Given the description of an element on the screen output the (x, y) to click on. 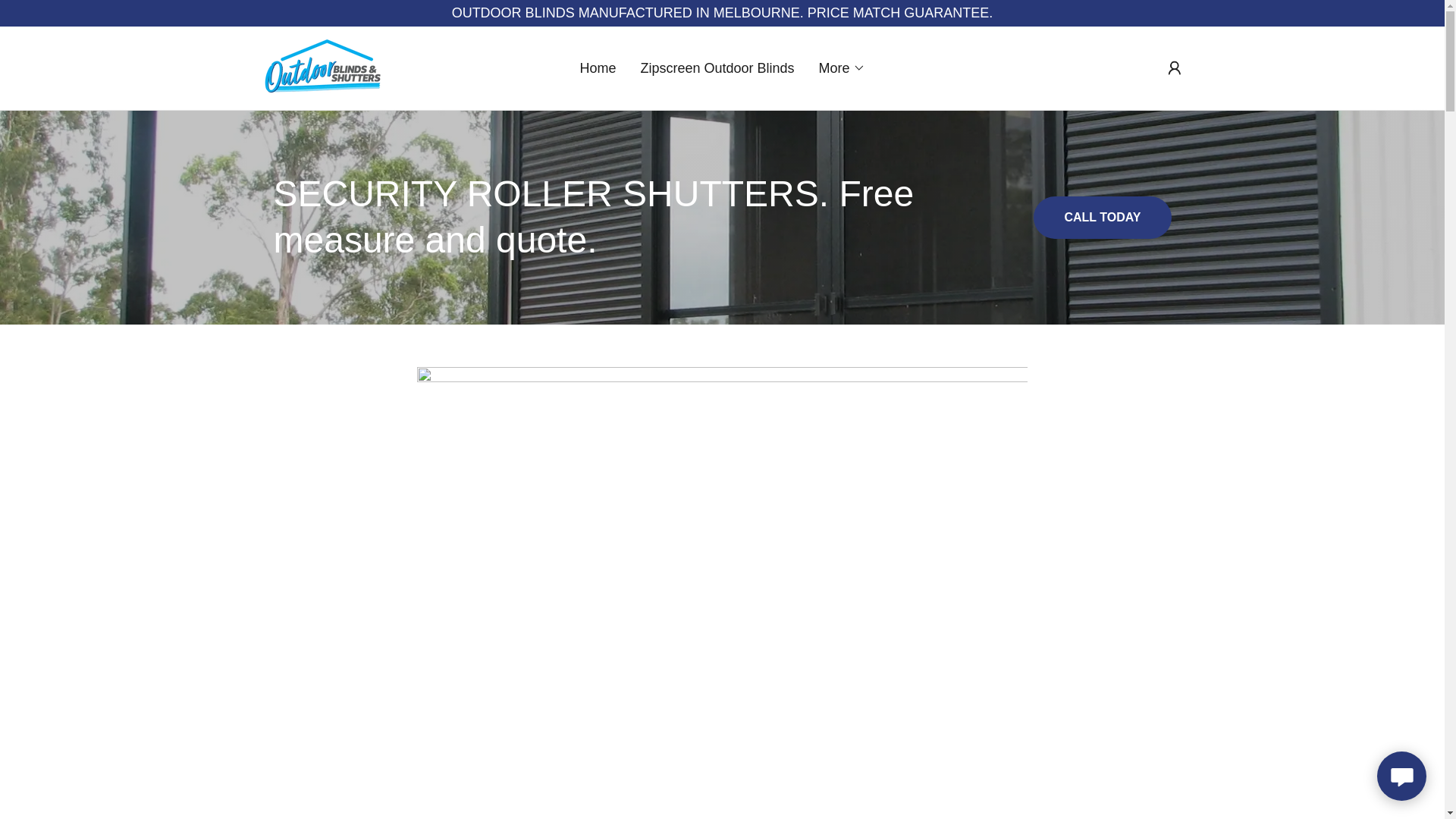
More (841, 67)
Zipscreen Outdoor Blinds (715, 67)
Home (597, 67)
